Given the description of an element on the screen output the (x, y) to click on. 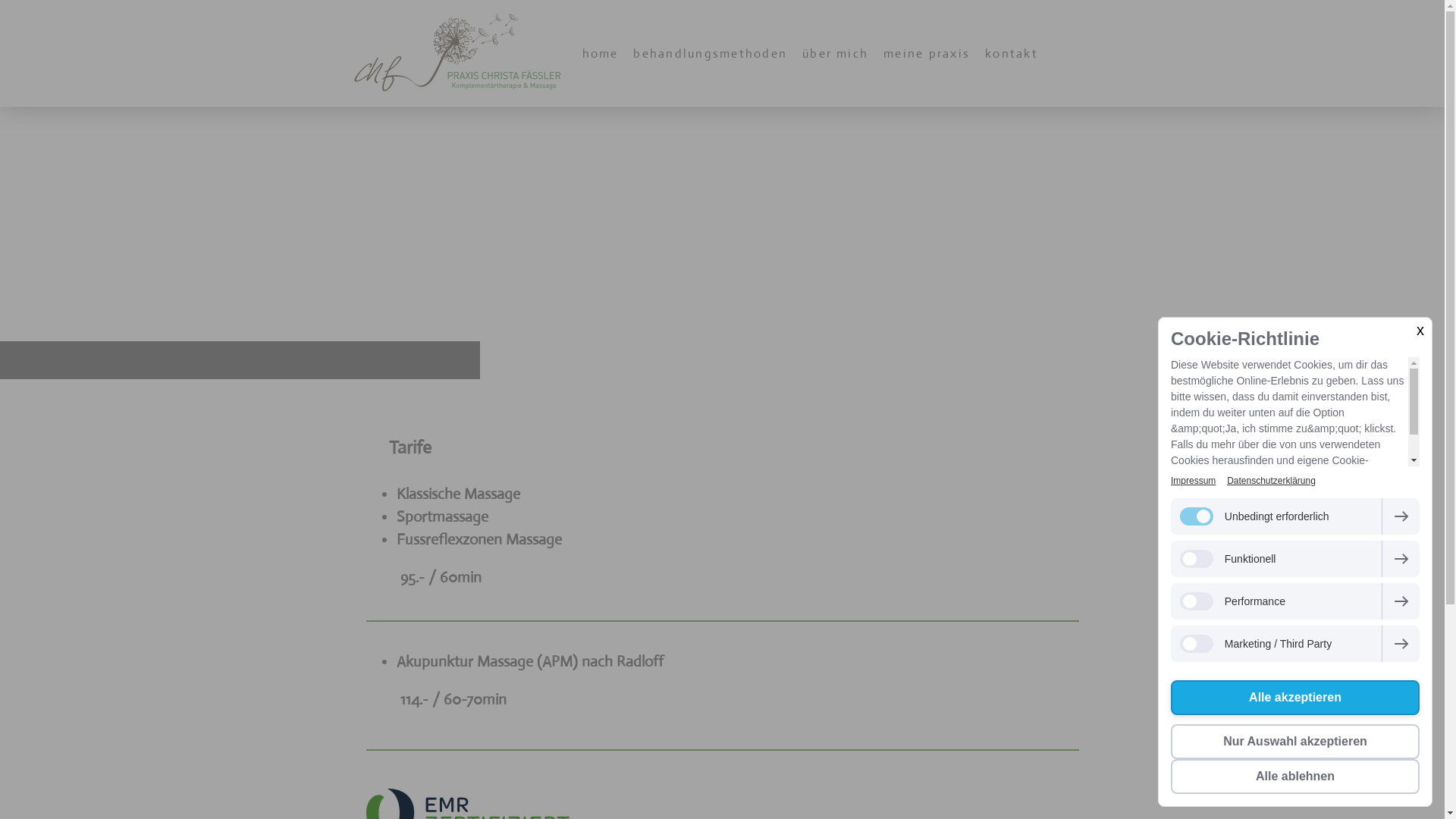
home Element type: text (600, 52)
Alle ablehnen Element type: text (1294, 776)
meine praxis Element type: text (926, 52)
kontakt Element type: text (1011, 52)
Nur Auswahl akzeptieren Element type: text (1294, 741)
Alle akzeptieren Element type: text (1294, 697)
Impressum Element type: text (1192, 480)
behandlungsmethoden Element type: text (709, 52)
